Given the description of an element on the screen output the (x, y) to click on. 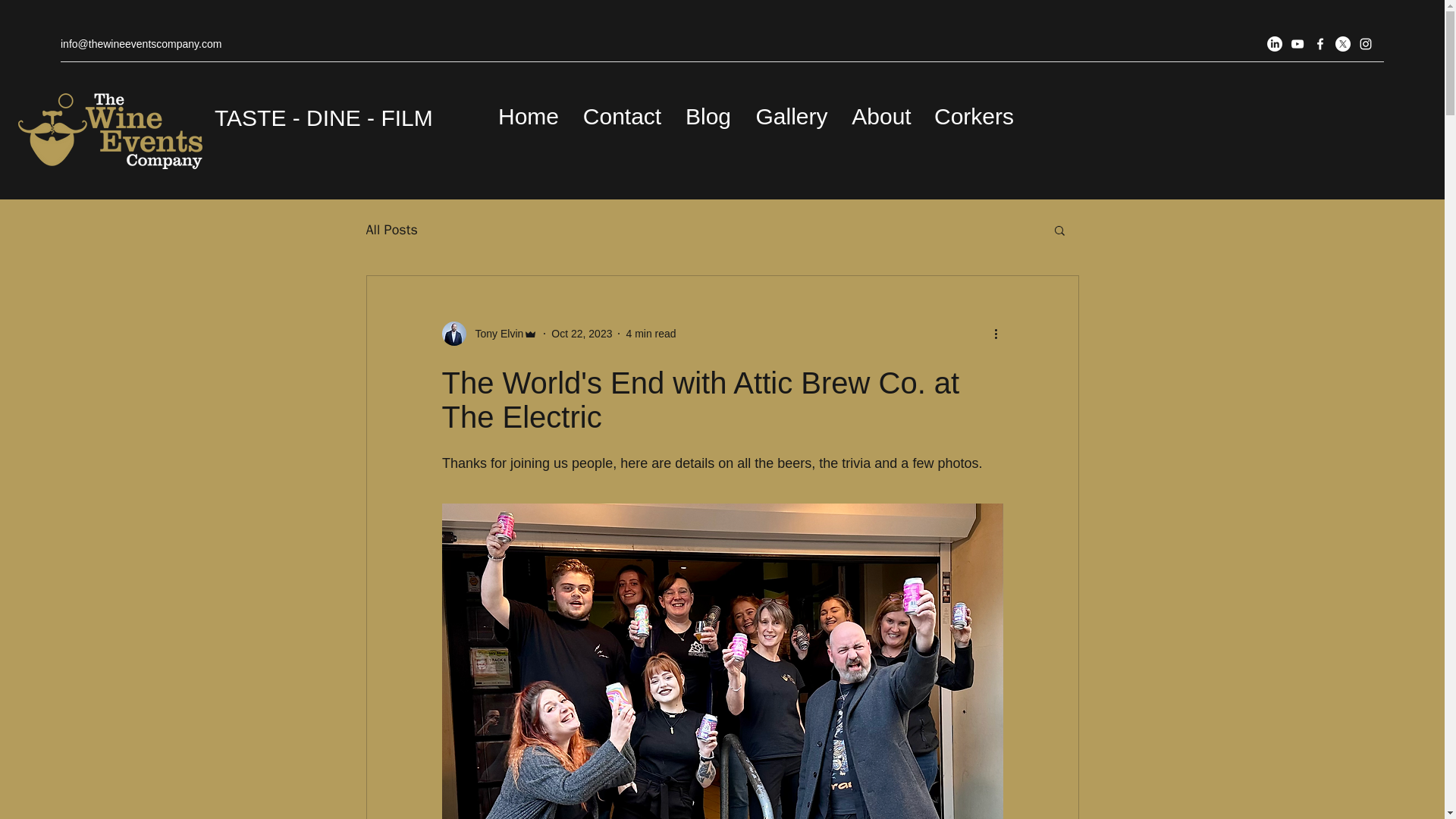
Blog (707, 116)
Corkers (974, 116)
Tony Elvin (493, 333)
4 min read (650, 333)
Oct 22, 2023 (581, 333)
Contact (621, 116)
Home (528, 116)
About (881, 116)
All Posts (390, 229)
Gallery (791, 116)
